Given the description of an element on the screen output the (x, y) to click on. 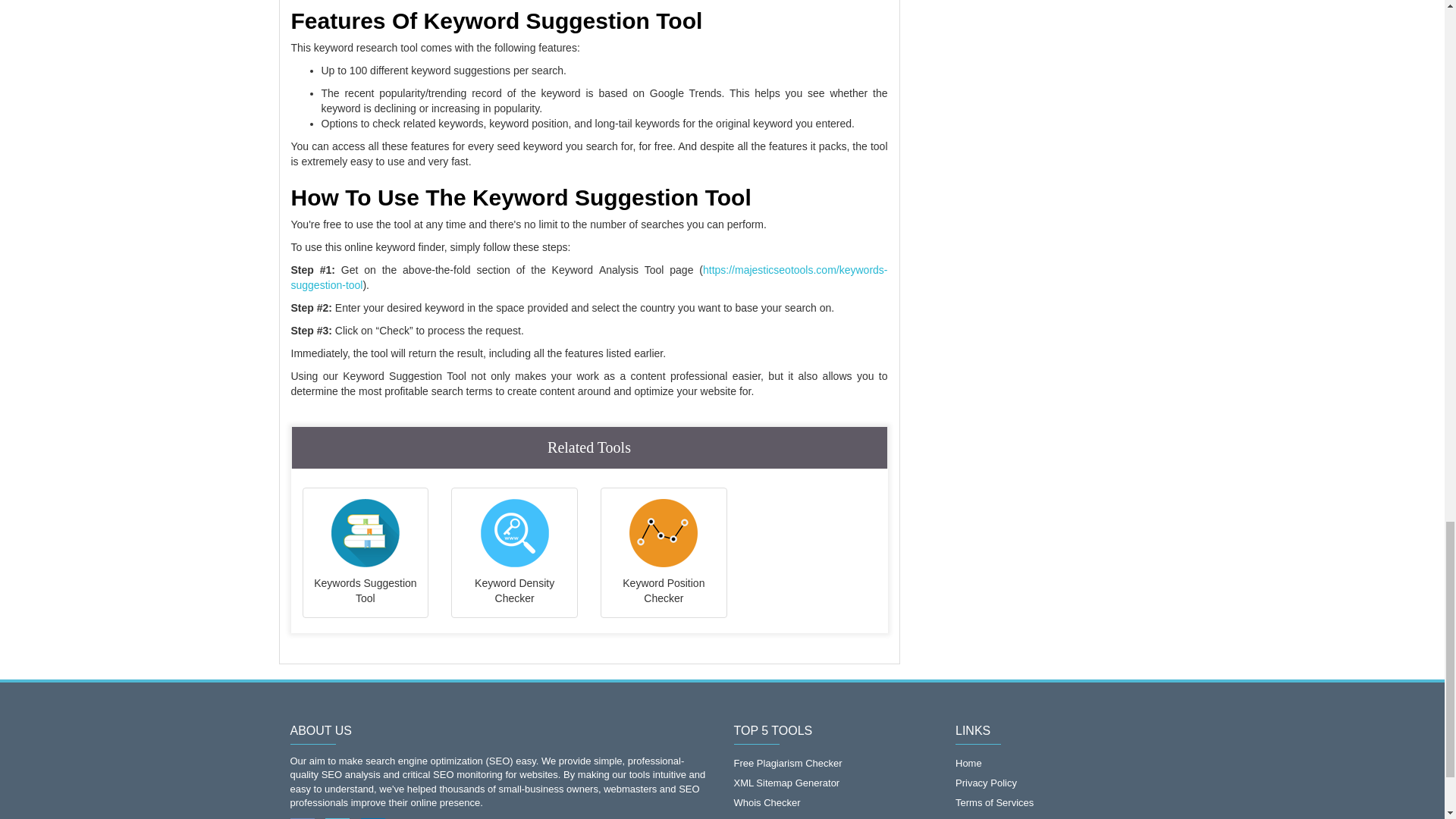
Keywords Suggestion Tool (365, 552)
Keyword Density Checker (513, 552)
URL Rewriting Tool (833, 816)
XML Sitemap Generator (833, 782)
Keyword Density Checker (513, 552)
Free Plagiarism Checker (833, 763)
Keywords Suggestion Tool (365, 552)
Keyword Position Checker (663, 552)
Whois Checker (833, 802)
Keyword Position Checker (663, 552)
